Given the description of an element on the screen output the (x, y) to click on. 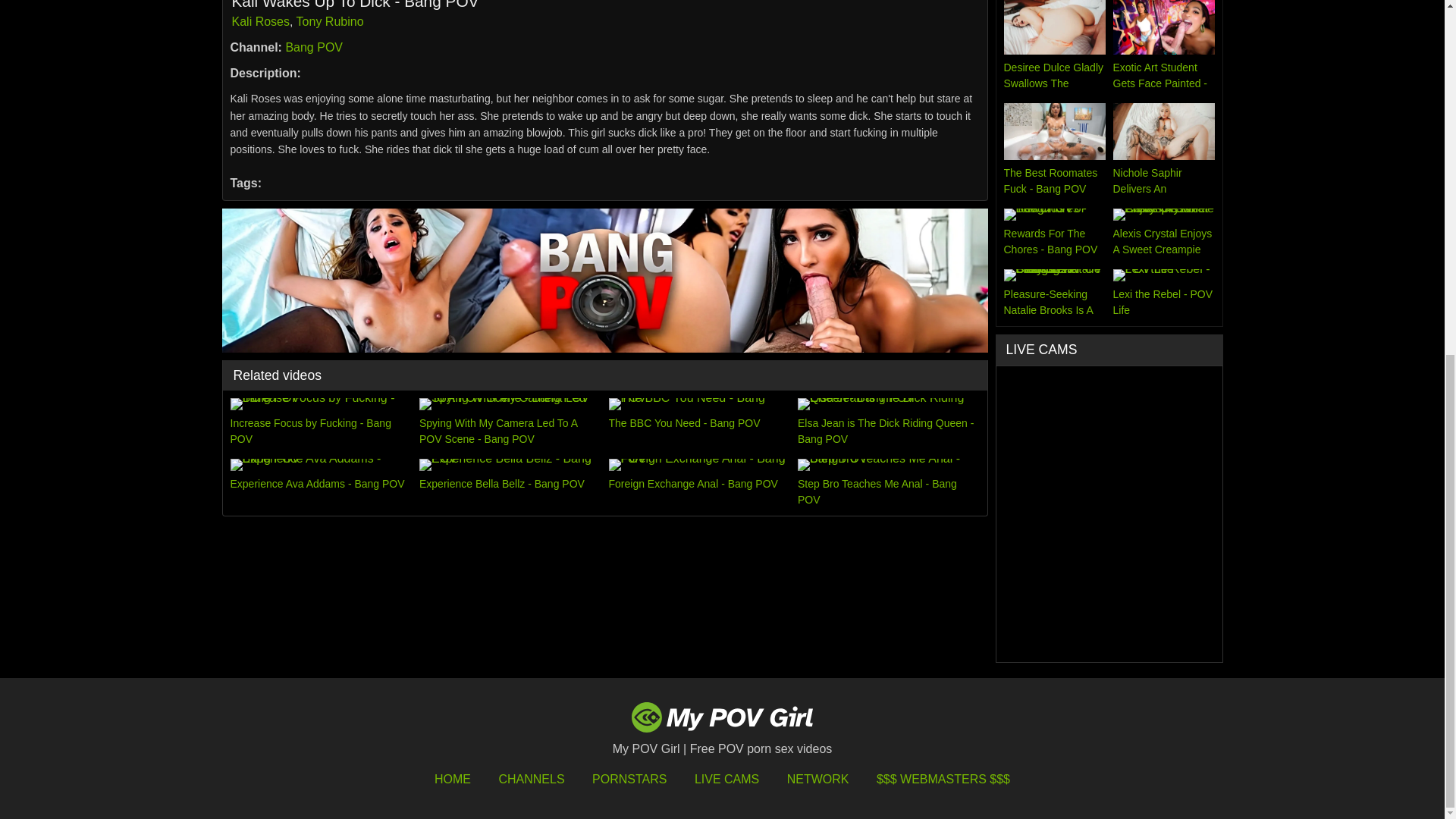
Spying With My Camera Led To A POV Scene - Bang POV (510, 422)
Increase Focus by Fucking - Bang POV (321, 422)
Tony Rubino (330, 21)
Kali Roses (260, 21)
Bang POV (313, 47)
